Given the description of an element on the screen output the (x, y) to click on. 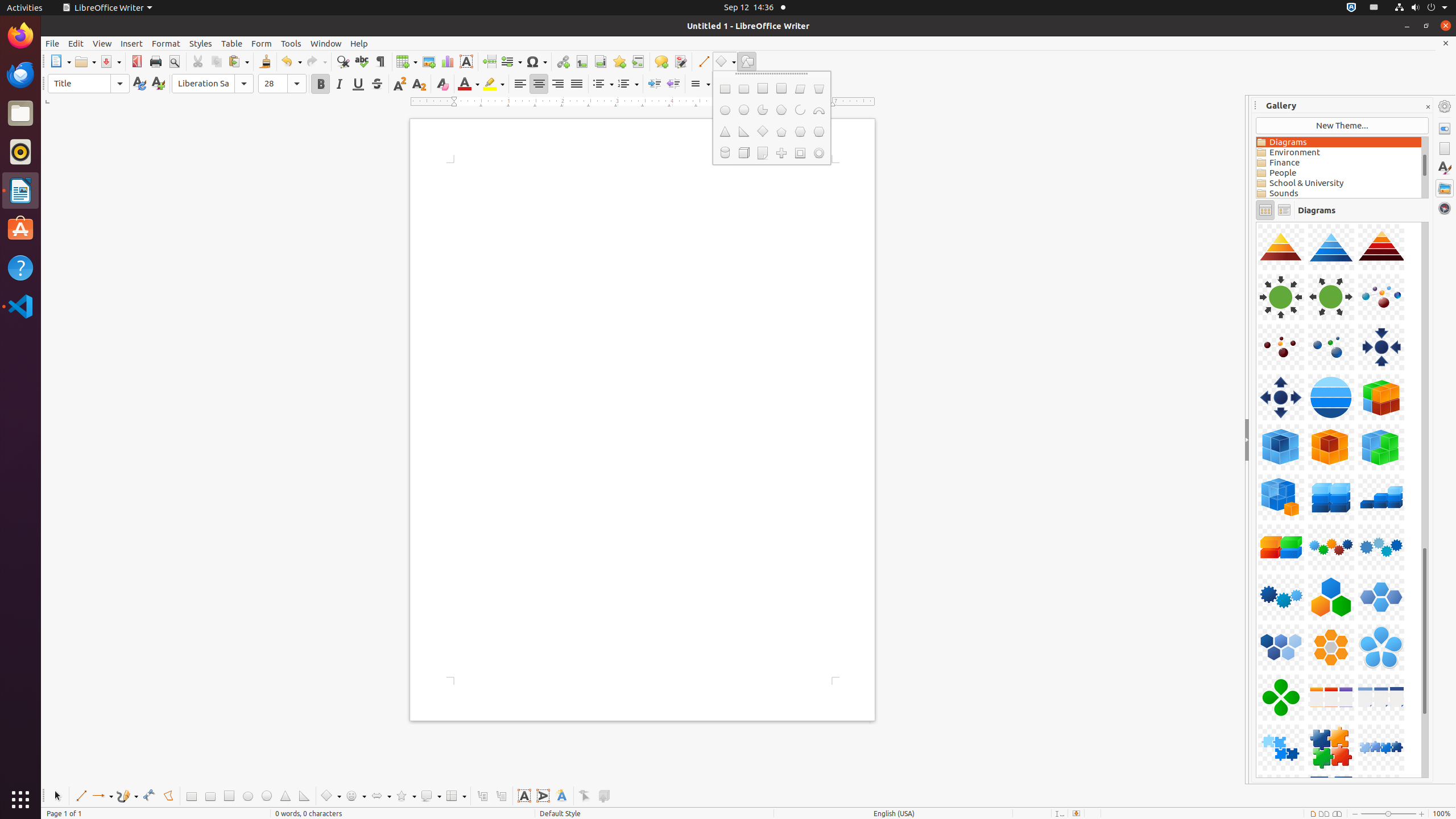
Rectangle Element type: push-button (191, 795)
Print Element type: push-button (155, 61)
Edit Points Element type: push-button (584, 795)
Detailed View Element type: toggle-button (1283, 210)
Print Preview Element type: toggle-button (173, 61)
